Given the description of an element on the screen output the (x, y) to click on. 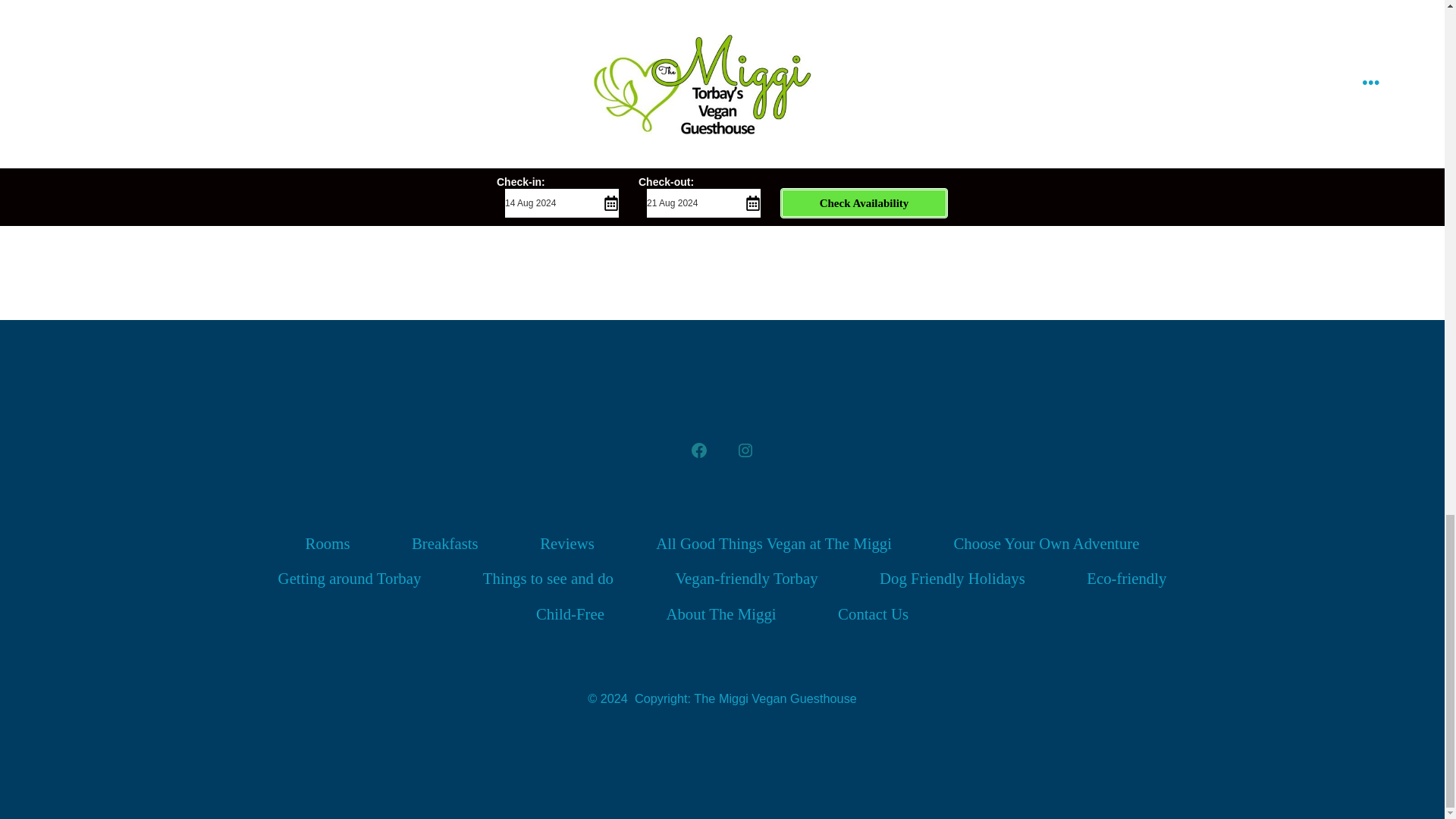
Vegan-friendly Torbay (746, 579)
Rooms (327, 543)
Contact Us (873, 614)
Getting around Torbay (348, 579)
Dog Friendly Holidays (952, 579)
All Good Things Vegan at The Miggi (774, 543)
All Good Things Vegan (613, 164)
Eco-friendly (1126, 579)
Reviews (567, 543)
Open Instagram in a new tab (745, 450)
Breakfasts (445, 543)
Open Facebook in a new tab (699, 450)
email (641, 198)
Things to see and do (547, 579)
Choose Your Own Adventure (1046, 543)
